Given the description of an element on the screen output the (x, y) to click on. 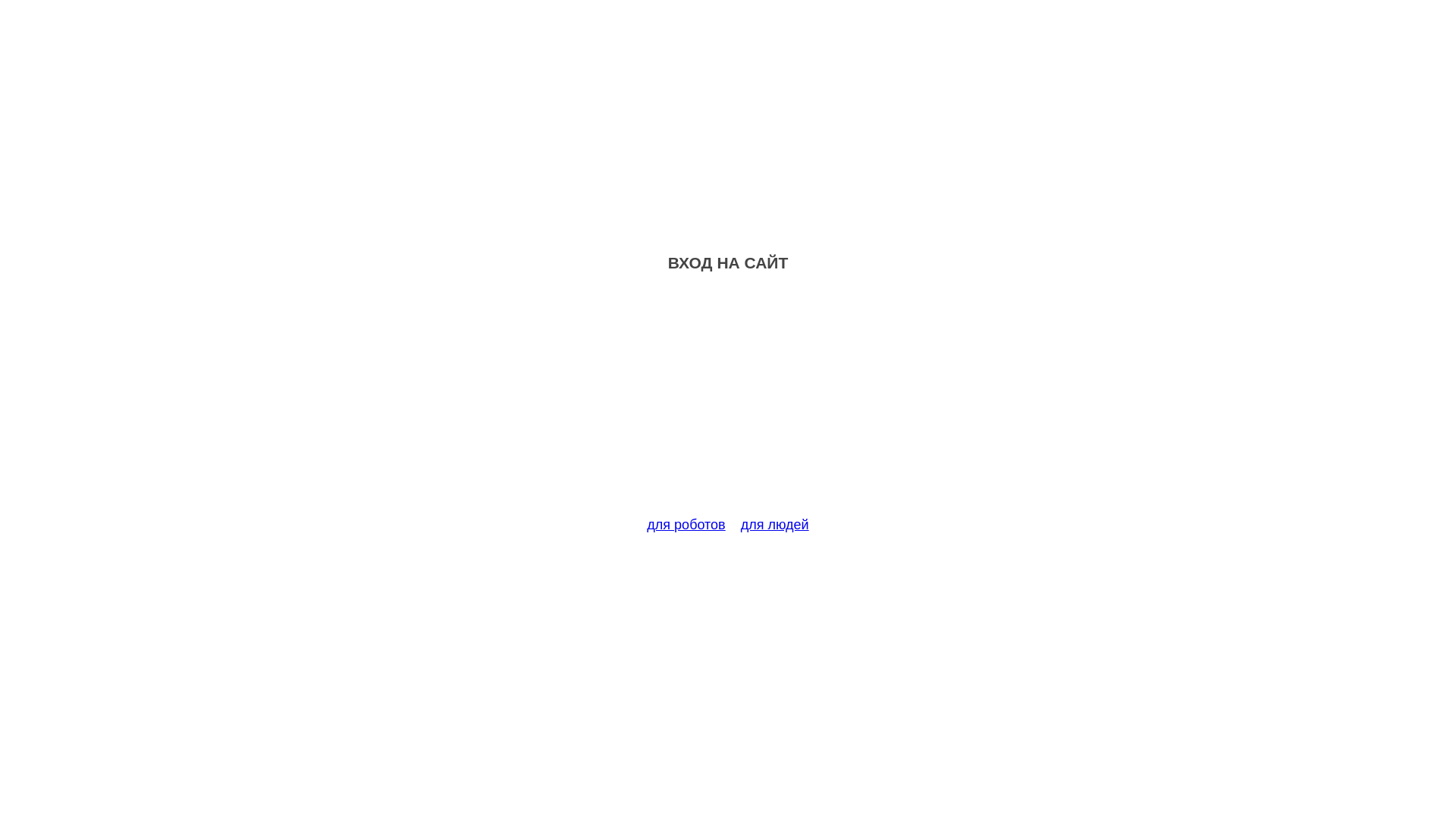
Advertisement Element type: hover (727, 403)
